Given the description of an element on the screen output the (x, y) to click on. 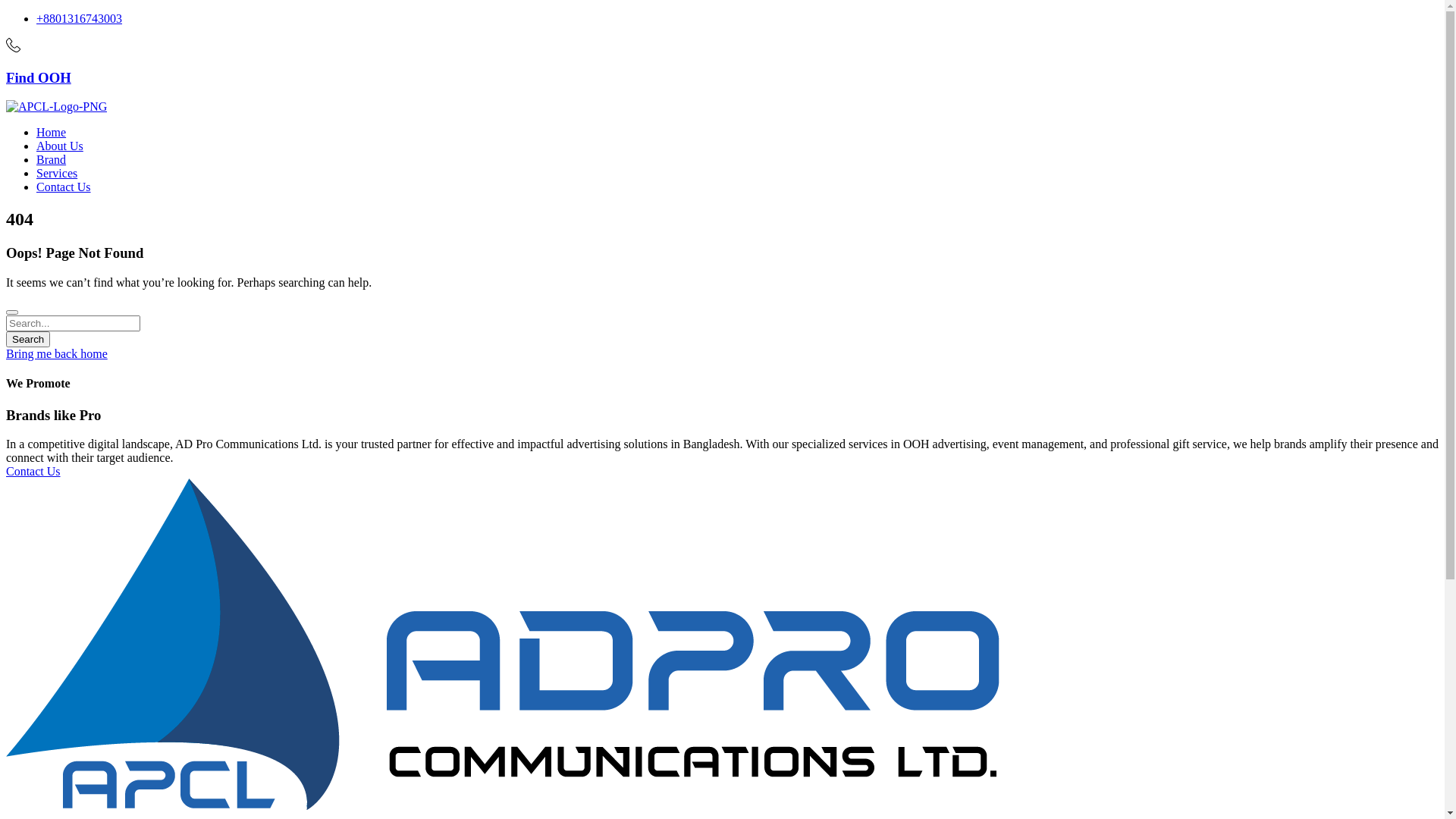
+8801316743003 Element type: text (79, 18)
Home Element type: text (50, 131)
Services Element type: text (56, 172)
Contact Us Element type: text (63, 186)
About Us Element type: text (59, 145)
Find OOH Element type: text (38, 77)
Search Element type: text (28, 339)
Contact Us Element type: text (722, 471)
Bring me back home Element type: text (56, 353)
Brand Element type: text (50, 159)
